Given the description of an element on the screen output the (x, y) to click on. 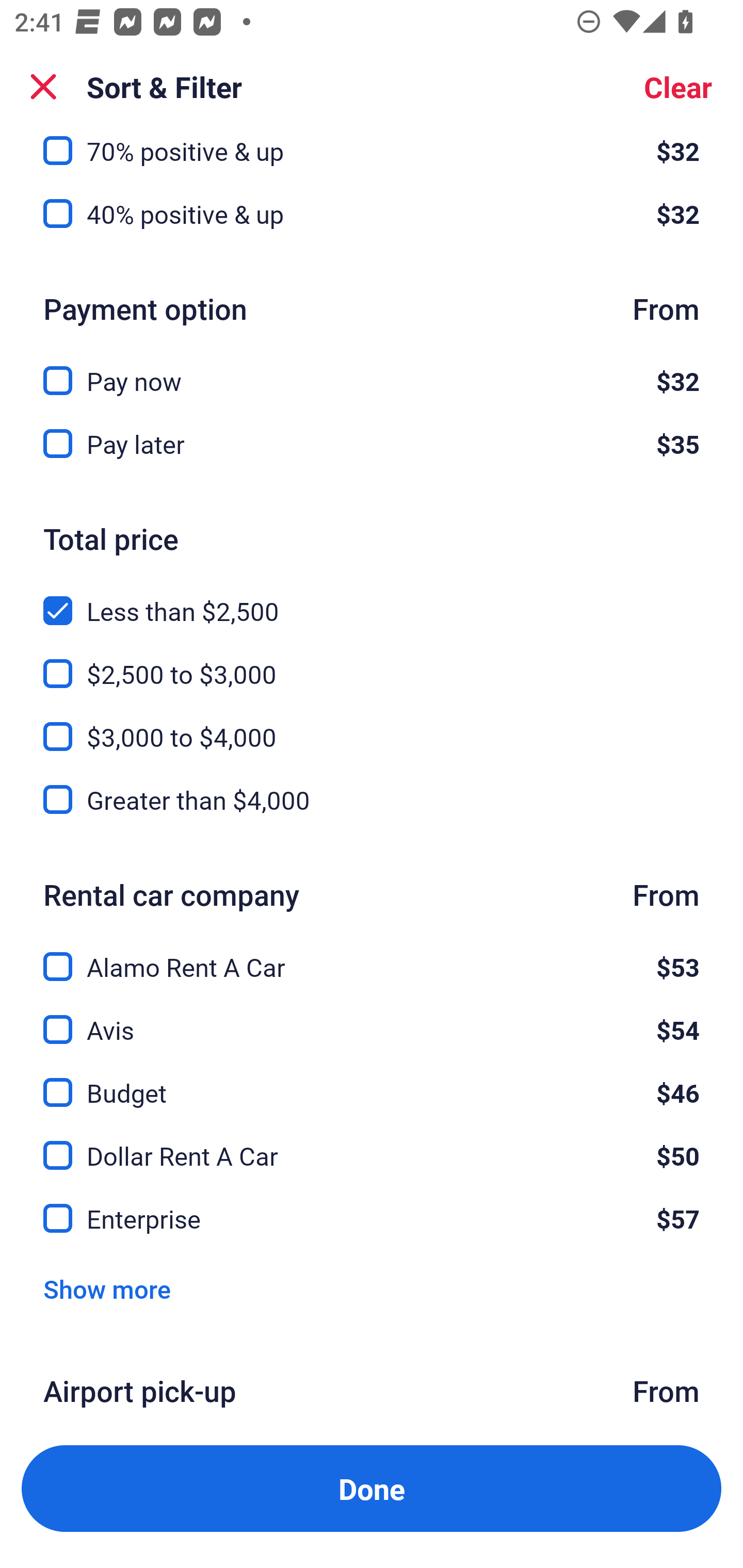
Close Sort and Filter (43, 86)
Clear (677, 86)
70% positive & up, $32 70% positive & up $32 (371, 150)
40% positive & up, $32 40% positive & up $32 (371, 213)
Pay now, $32 Pay now $32 (371, 369)
Pay later, $35 Pay later $35 (371, 444)
Less than $2,500, Less than $2,500 (371, 598)
$2,500 to $3,000, $2,500 to $3,000 (371, 661)
$3,000 to $4,000, $3,000 to $4,000 (371, 725)
Greater than $4,000, Greater than $4,000 (371, 800)
Alamo Rent A Car, $53 Alamo Rent A Car $53 (371, 954)
Avis, $54 Avis $54 (371, 1017)
Budget, $46 Budget $46 (371, 1080)
Dollar Rent A Car, $50 Dollar Rent A Car $50 (371, 1144)
Enterprise, $57 Enterprise $57 (371, 1219)
Show more Show more Link (106, 1288)
Apply and close Sort and Filter Done (371, 1488)
